Given the description of an element on the screen output the (x, y) to click on. 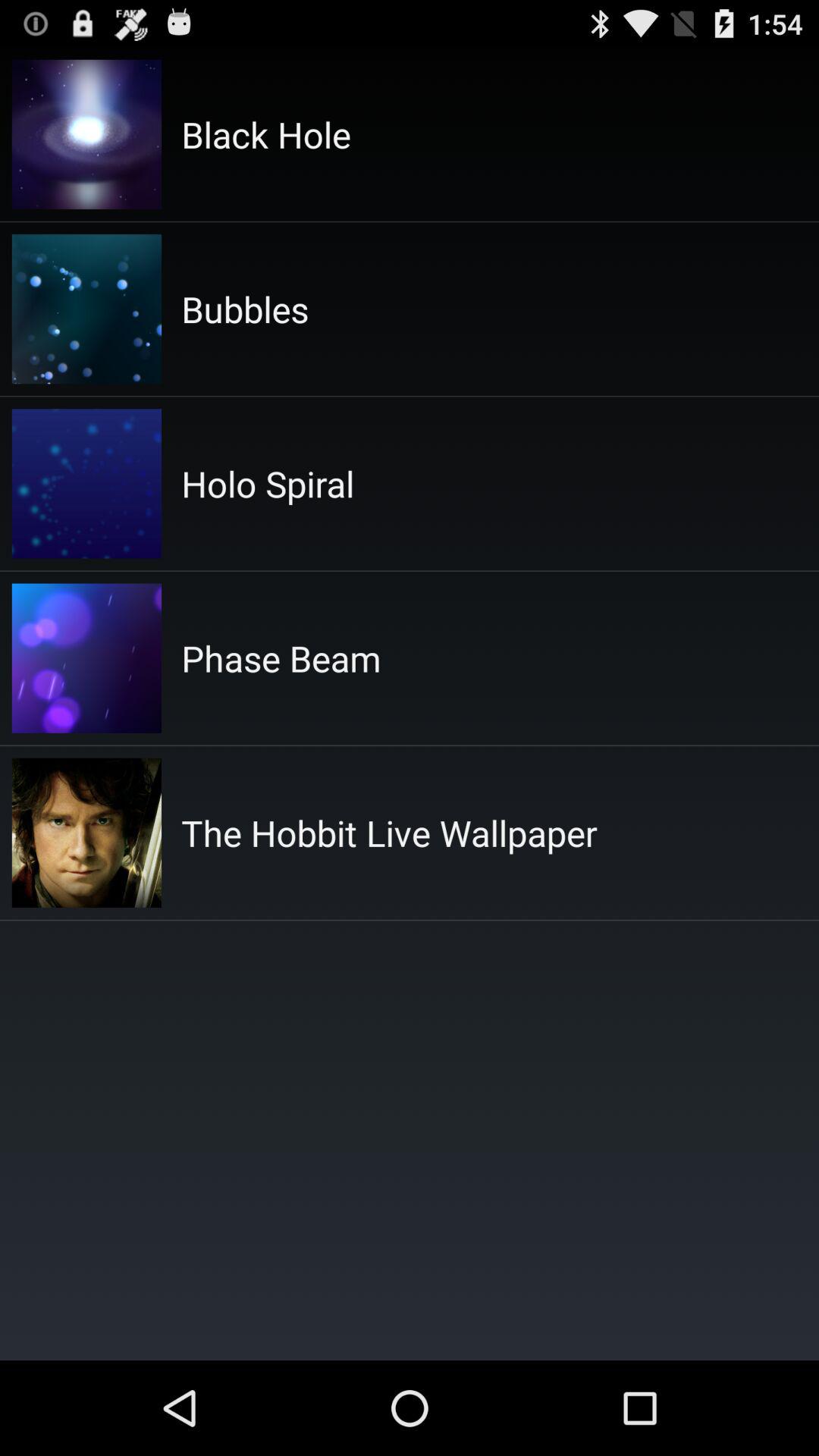
press the item below the bubbles item (267, 483)
